Given the description of an element on the screen output the (x, y) to click on. 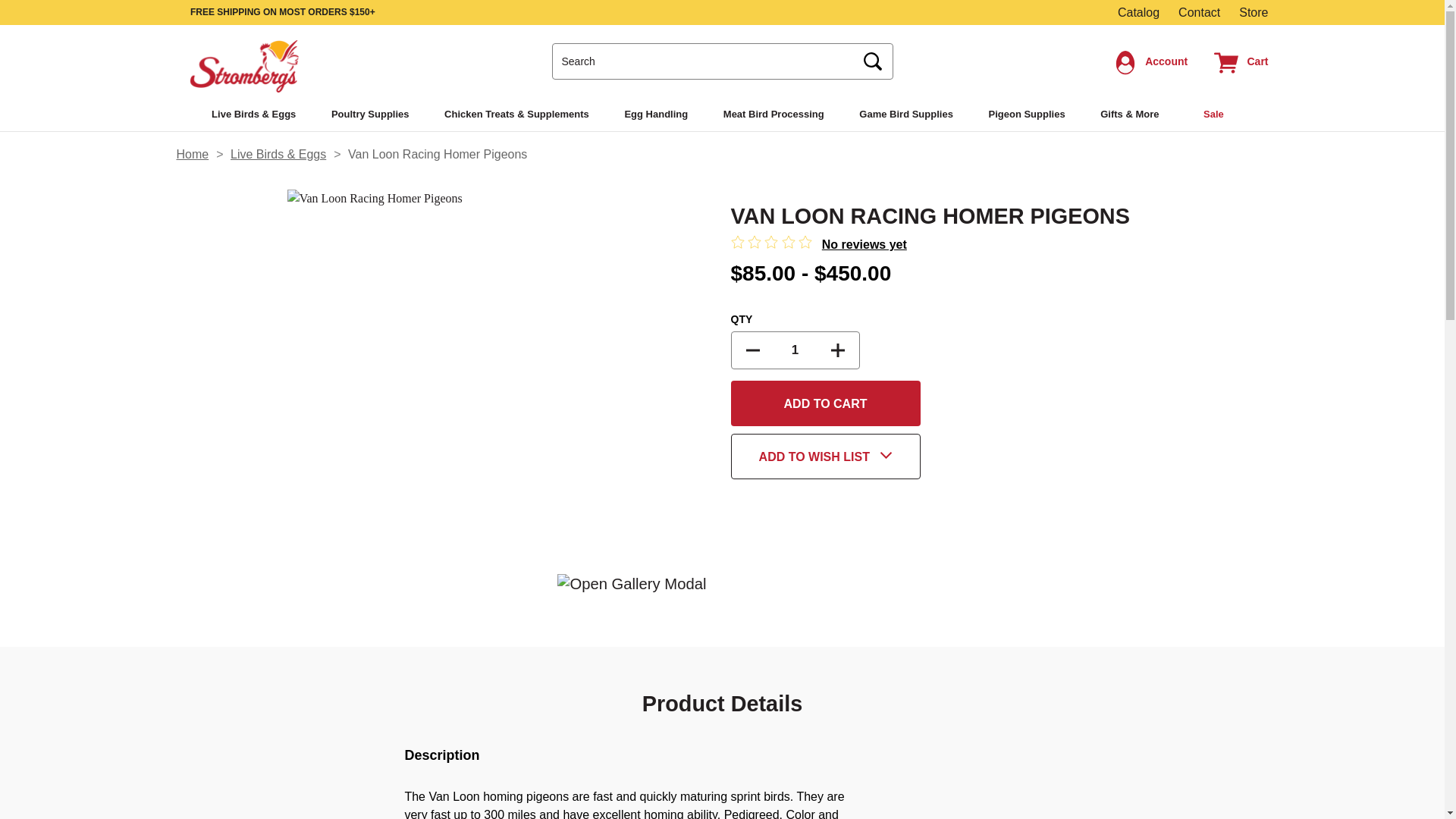
Cart (1241, 61)
Store (1253, 11)
Account (1150, 61)
1 (794, 349)
Contact (1198, 11)
Add to Cart (825, 402)
SEARCH (874, 62)
Catalog (1138, 11)
